Given the description of an element on the screen output the (x, y) to click on. 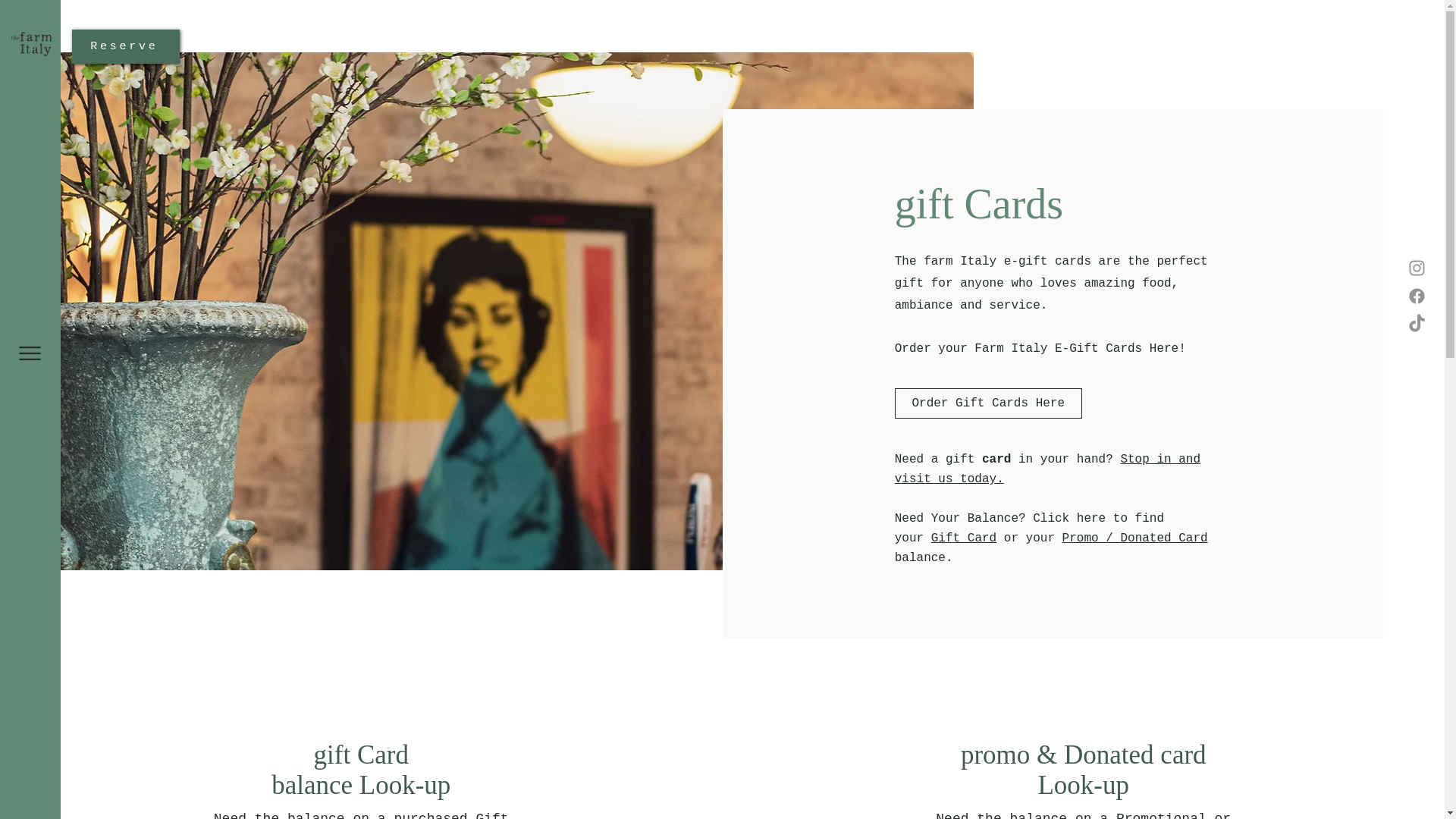
Order Gift Cards Here (988, 403)
Reserve (125, 46)
Stop in and visit us today. (1047, 469)
Gift Card (963, 538)
